Given the description of an element on the screen output the (x, y) to click on. 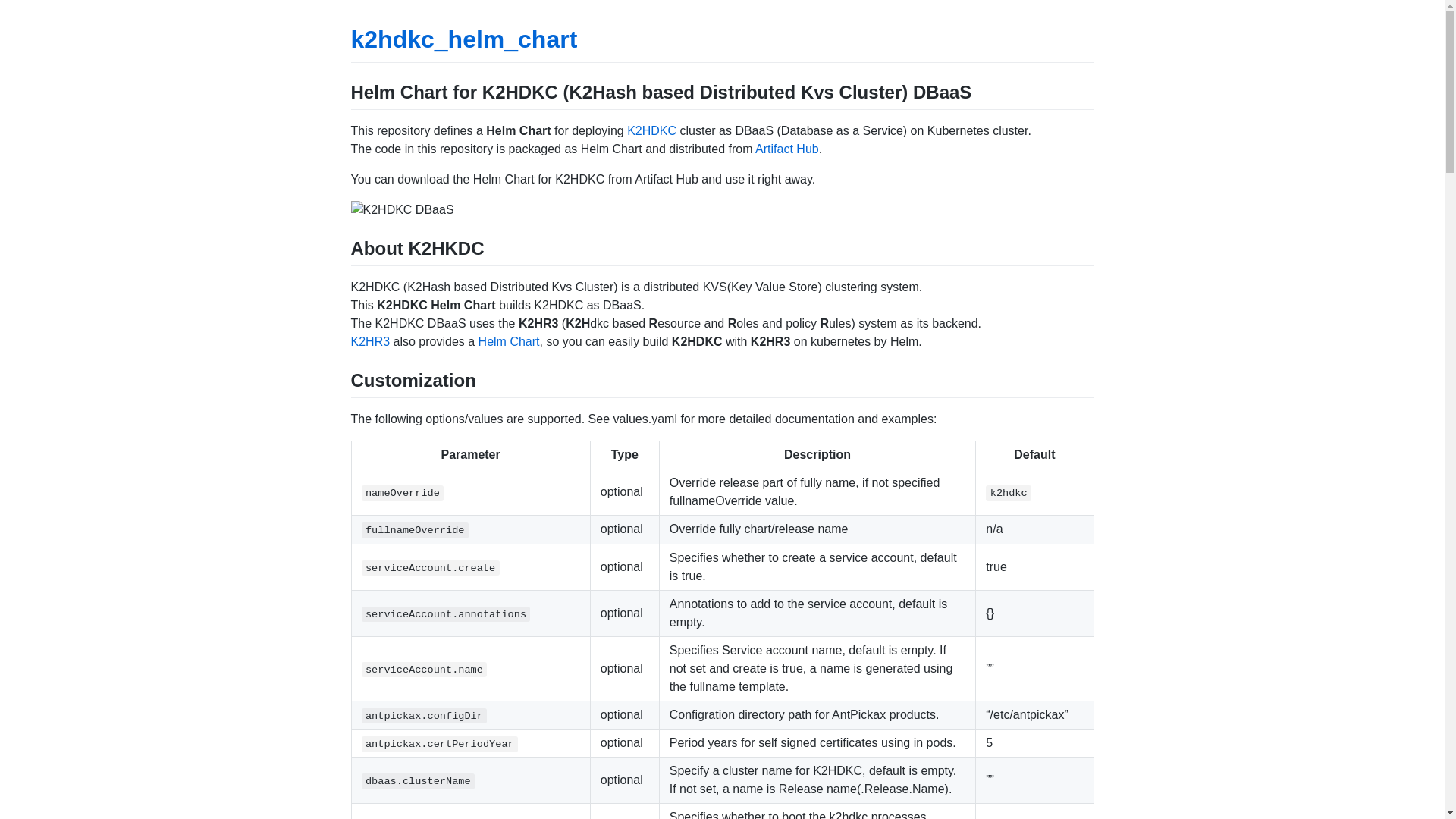
K2HR3 Element type: text (369, 341)
Helm Chart Element type: text (508, 341)
K2HDKC Element type: text (651, 130)
k2hdkc_helm_chart Element type: text (463, 39)
Artifact Hub Element type: text (787, 148)
